Given the description of an element on the screen output the (x, y) to click on. 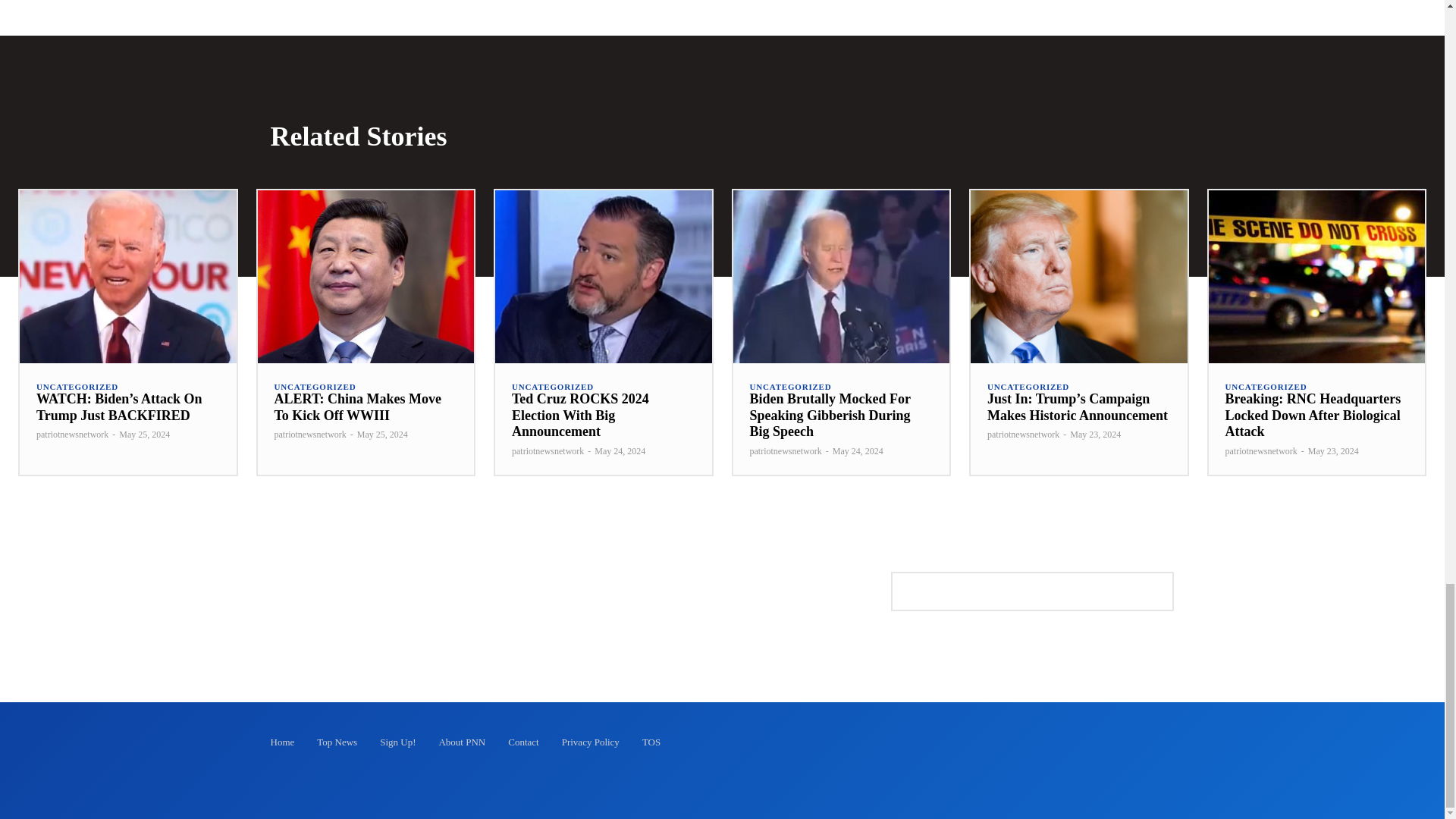
UNCATEGORIZED (315, 387)
patriotnewsnetwork (547, 450)
ALERT: China Makes Move To Kick Off WWIII (365, 276)
Ted Cruz ROCKS 2024 Election With Big Announcement (580, 414)
ALERT: China Makes Move To Kick Off WWIII (358, 407)
Ted Cruz ROCKS 2024 Election With Big Announcement (580, 414)
patriotnewsnetwork (71, 434)
UNCATEGORIZED (553, 387)
Ted Cruz ROCKS 2024 Election With Big Announcement (603, 276)
patriotnewsnetwork (310, 434)
UNCATEGORIZED (76, 387)
ALERT: China Makes Move To Kick Off WWIII (358, 407)
